Given the description of an element on the screen output the (x, y) to click on. 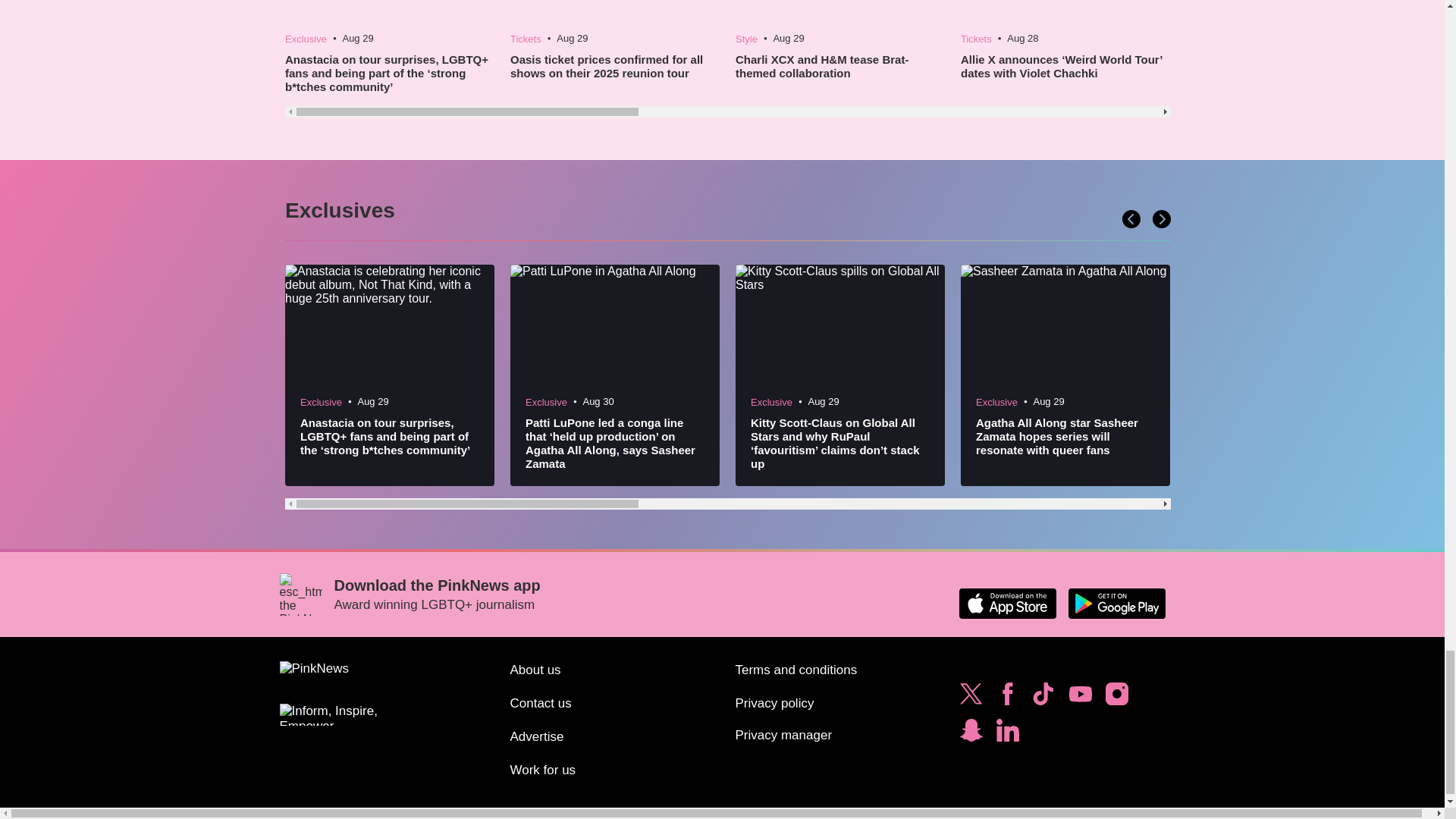
Follow PinkNews on TikTok (1042, 697)
Subscribe to PinkNews on YouTube (1079, 697)
Follow PinkNews on Twitter (970, 697)
Follow PinkNews on Instagram (1116, 697)
Follow PinkNews on LinkedIn (1007, 733)
Download the PinkNews app on the Apple App Store (1006, 603)
Subscribe to PinkNews on Snapchat (970, 733)
Download the PinkNews app on Google Play (1115, 603)
